Given the description of an element on the screen output the (x, y) to click on. 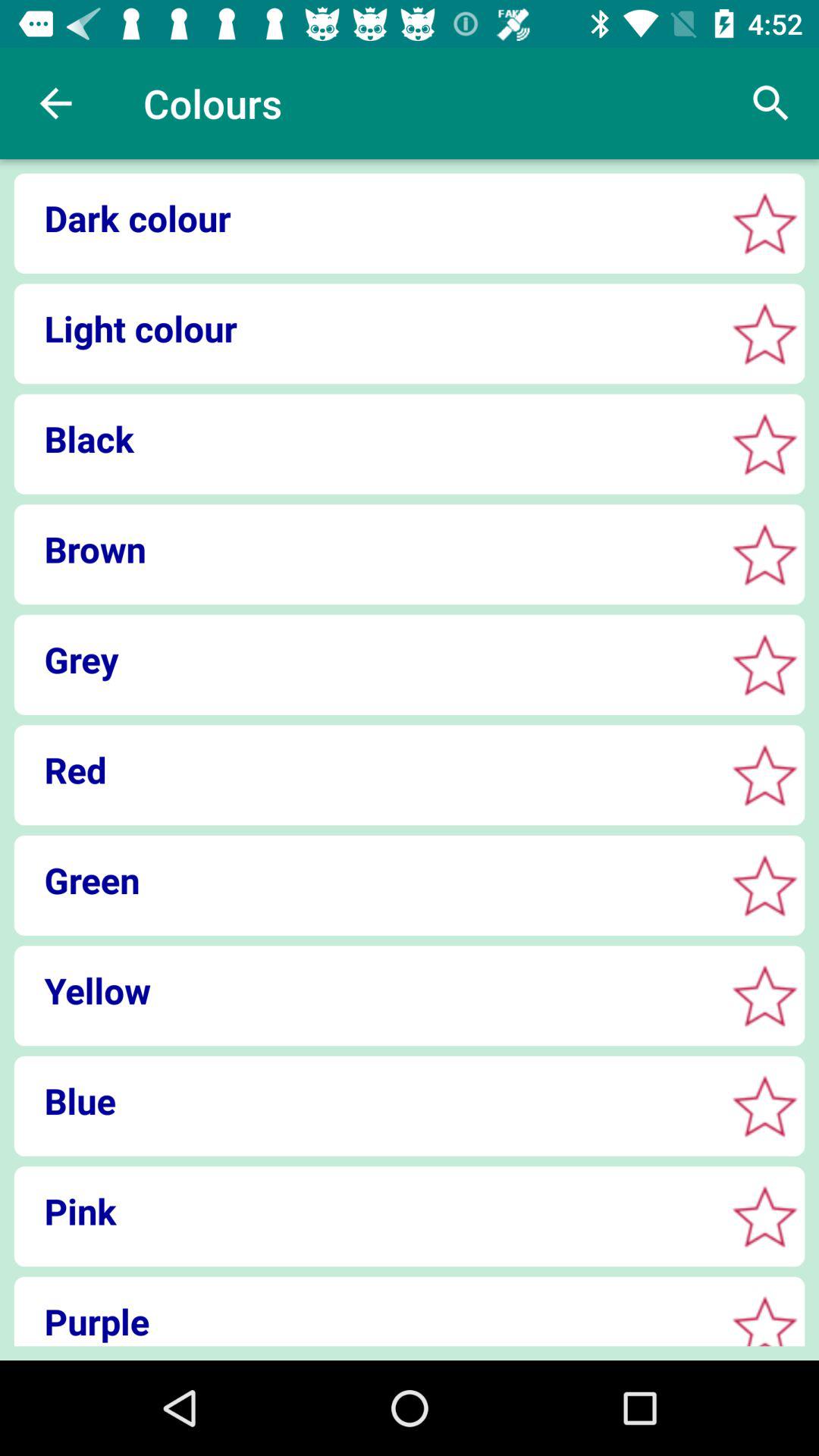
mark purple as favorite (764, 1323)
